Given the description of an element on the screen output the (x, y) to click on. 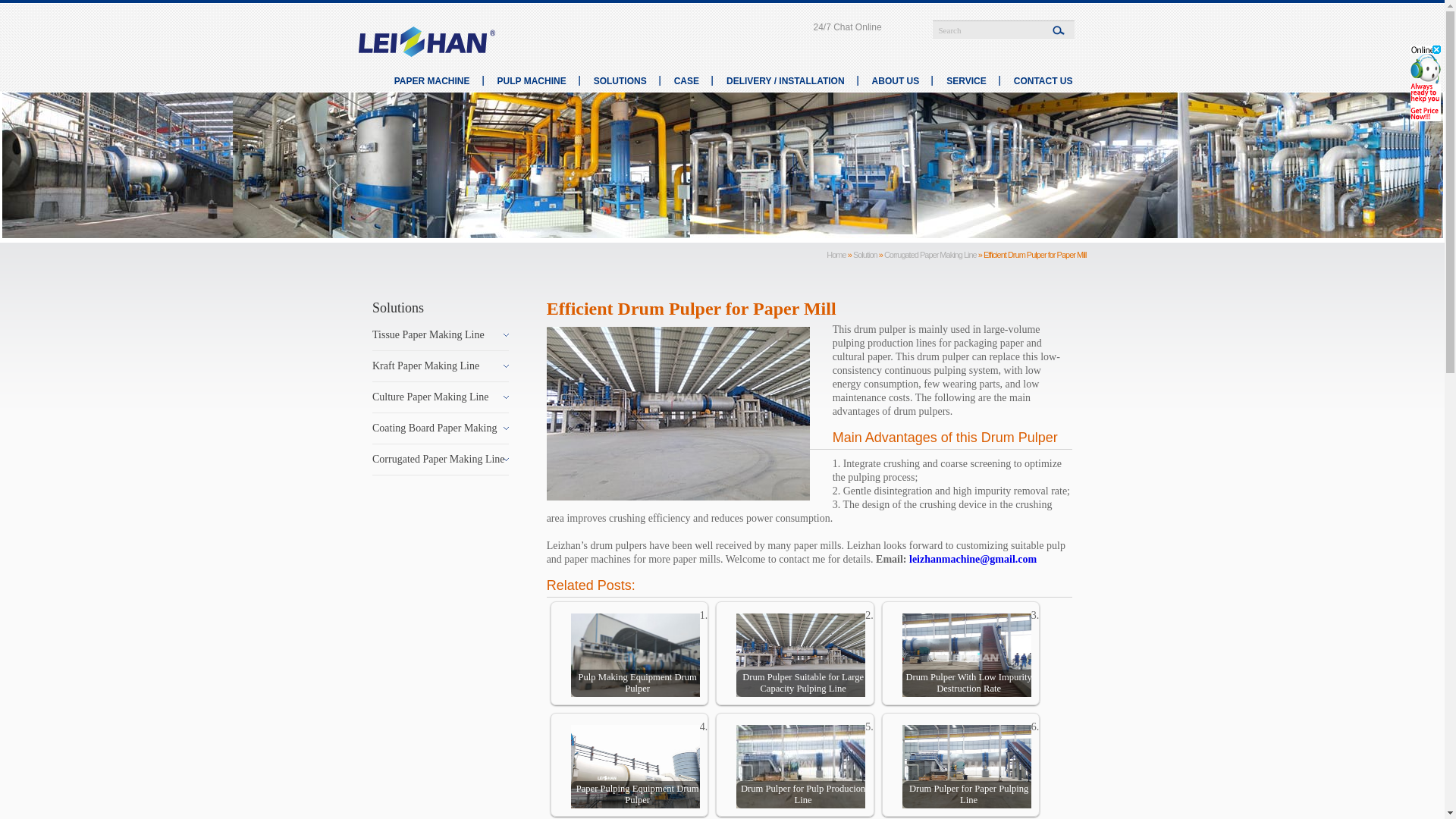
chat online (846, 27)
ABOUT US (896, 81)
SOLUTIONS (620, 81)
Drum Pulper With Low Impurity Destruction Rate (966, 657)
Home (836, 254)
Solution (865, 254)
Pulp Making Equipment Drum Pulper (635, 657)
CASE (686, 81)
Drum Pulper for Pulp Producion Line (800, 768)
PAPER MACHINE (432, 81)
Paper Pulping Equipment Drum Pulper (635, 768)
Corrugated Paper Making Line (929, 254)
SERVICE (965, 81)
Drum Pulper Suitable for Large Capacity Pulping Line (800, 657)
CONTACT US (1043, 81)
